Given the description of an element on the screen output the (x, y) to click on. 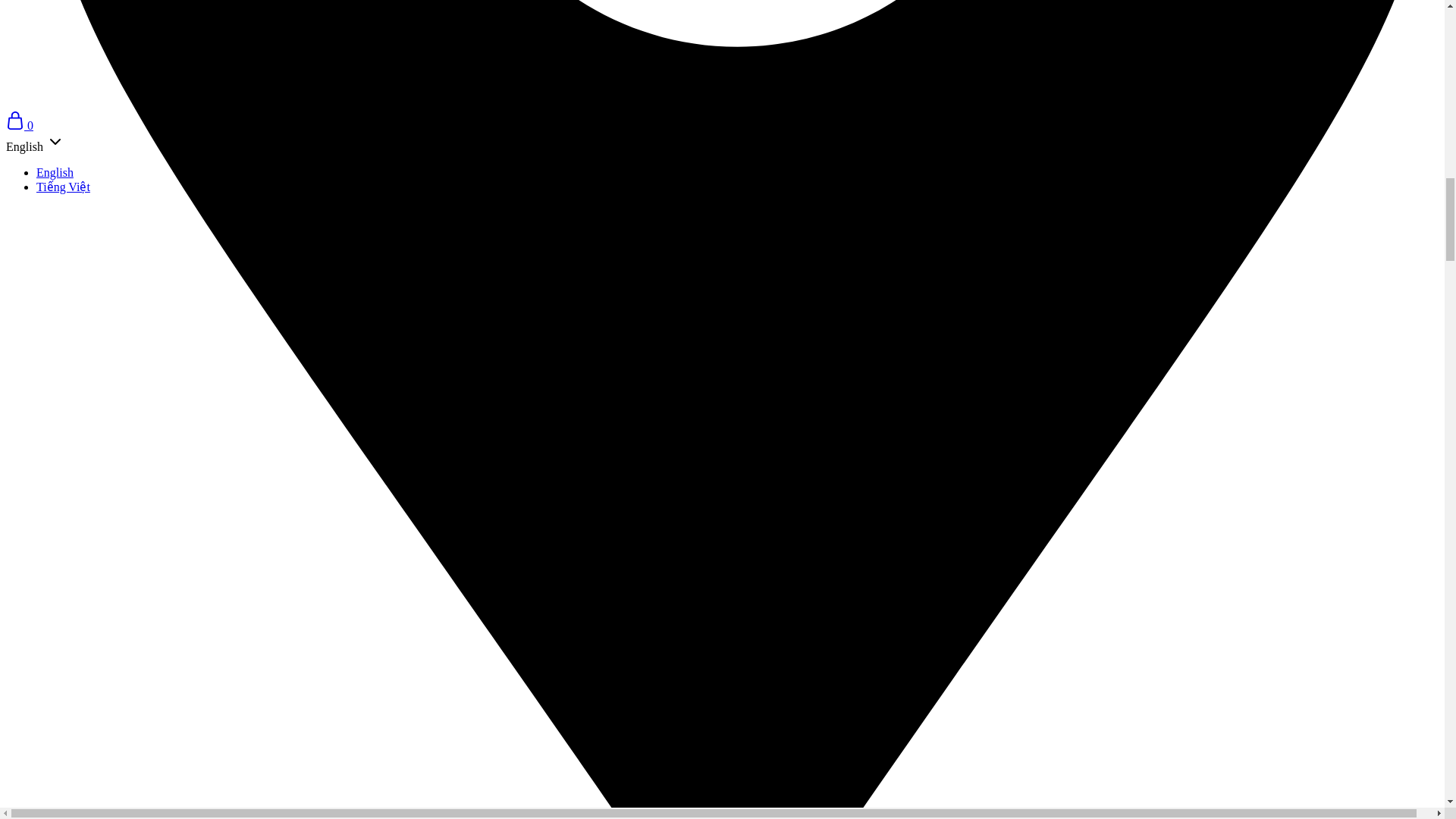
0 (19, 124)
English (55, 172)
